Given the description of an element on the screen output the (x, y) to click on. 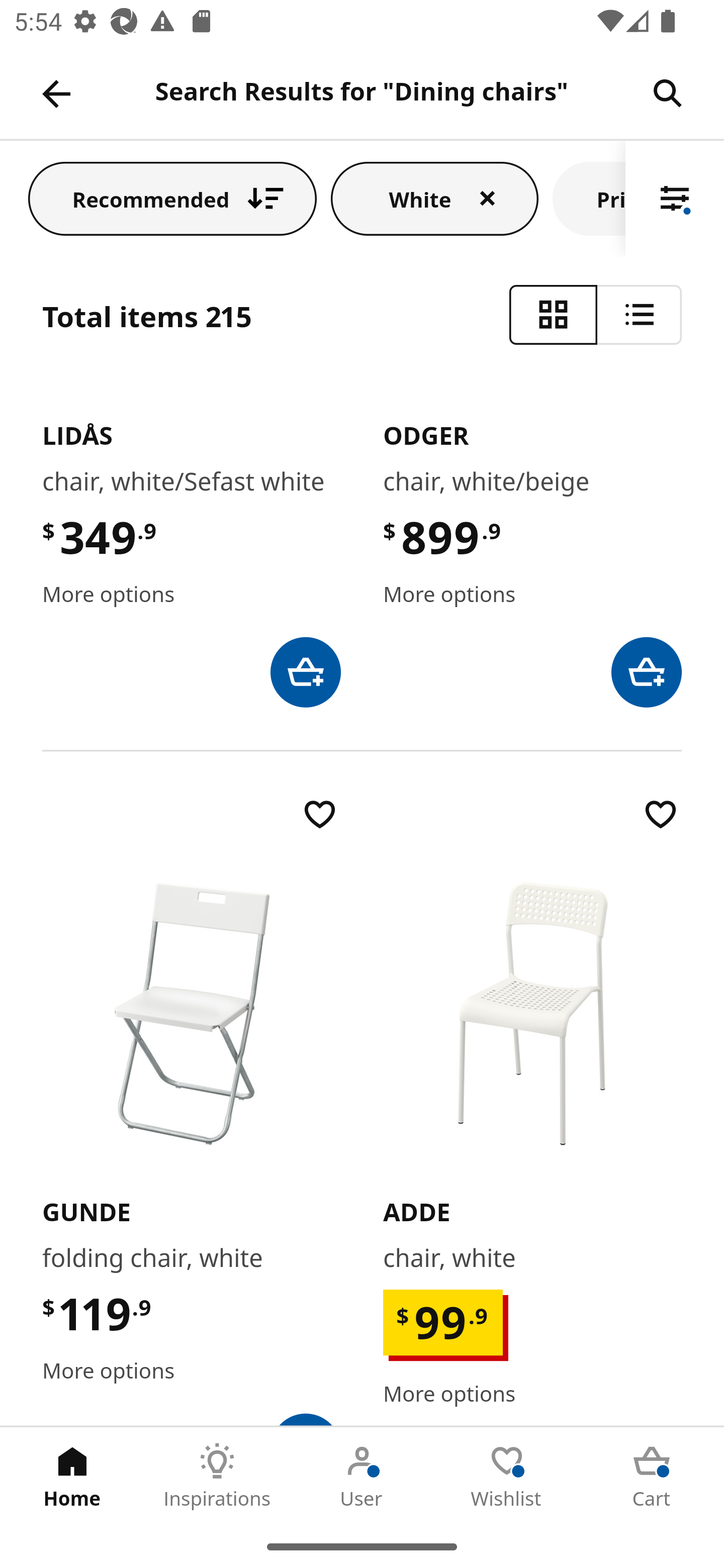
Recommended (172, 198)
White (434, 198)
​A​D​D​E​
chair, white
$
99
.9
More options (532, 1109)
Home
Tab 1 of 5 (72, 1476)
Inspirations
Tab 2 of 5 (216, 1476)
User
Tab 3 of 5 (361, 1476)
Wishlist
Tab 4 of 5 (506, 1476)
Cart
Tab 5 of 5 (651, 1476)
